Given the description of an element on the screen output the (x, y) to click on. 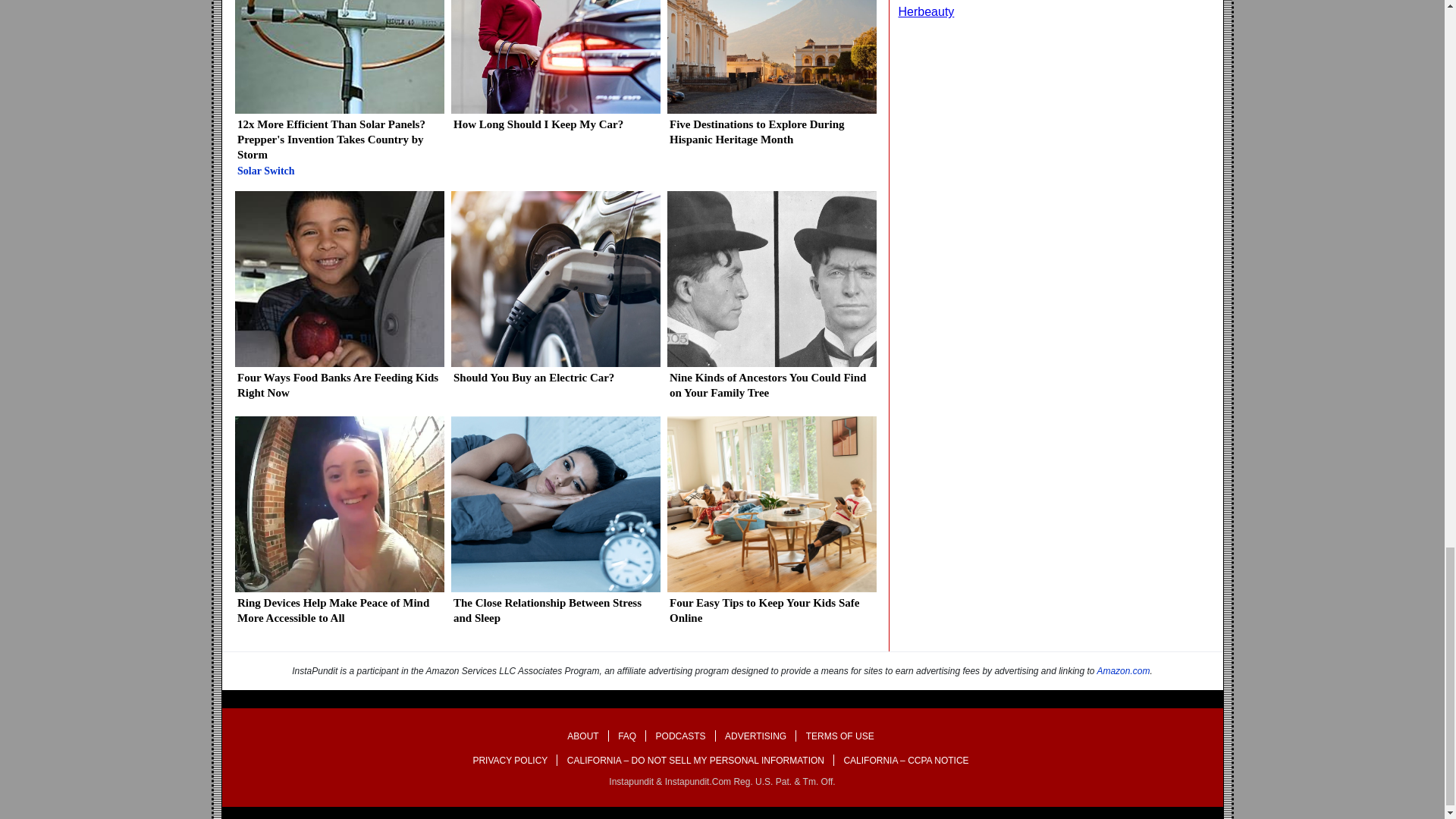
Should You Buy an Electric Car? (554, 293)
Ring Devices Help Make Peace of Mind More Accessible to All (338, 526)
How Long Should I Keep My Car? (554, 71)
Nine Kinds of Ancestors You Could Find on Your Family Tree (770, 300)
Five Destinations to Explore During Hispanic Heritage Month (770, 79)
Four Ways Food Banks Are Feeding Kids Right Now (338, 300)
Four Ways Food Banks Are Feeding Kids Right Now (338, 300)
The Close Relationship Between Stress and Sleep (554, 526)
Ring Devices Help Make Peace of Mind More Accessible to All (338, 526)
How Long Should I Keep My Car? (554, 71)
Four Easy Tips to Keep Your Kids Safe Online (770, 526)
Nine Kinds of Ancestors You Could Find on Your Family Tree (770, 300)
Should You Buy an Electric Car? (554, 293)
